Given the description of an element on the screen output the (x, y) to click on. 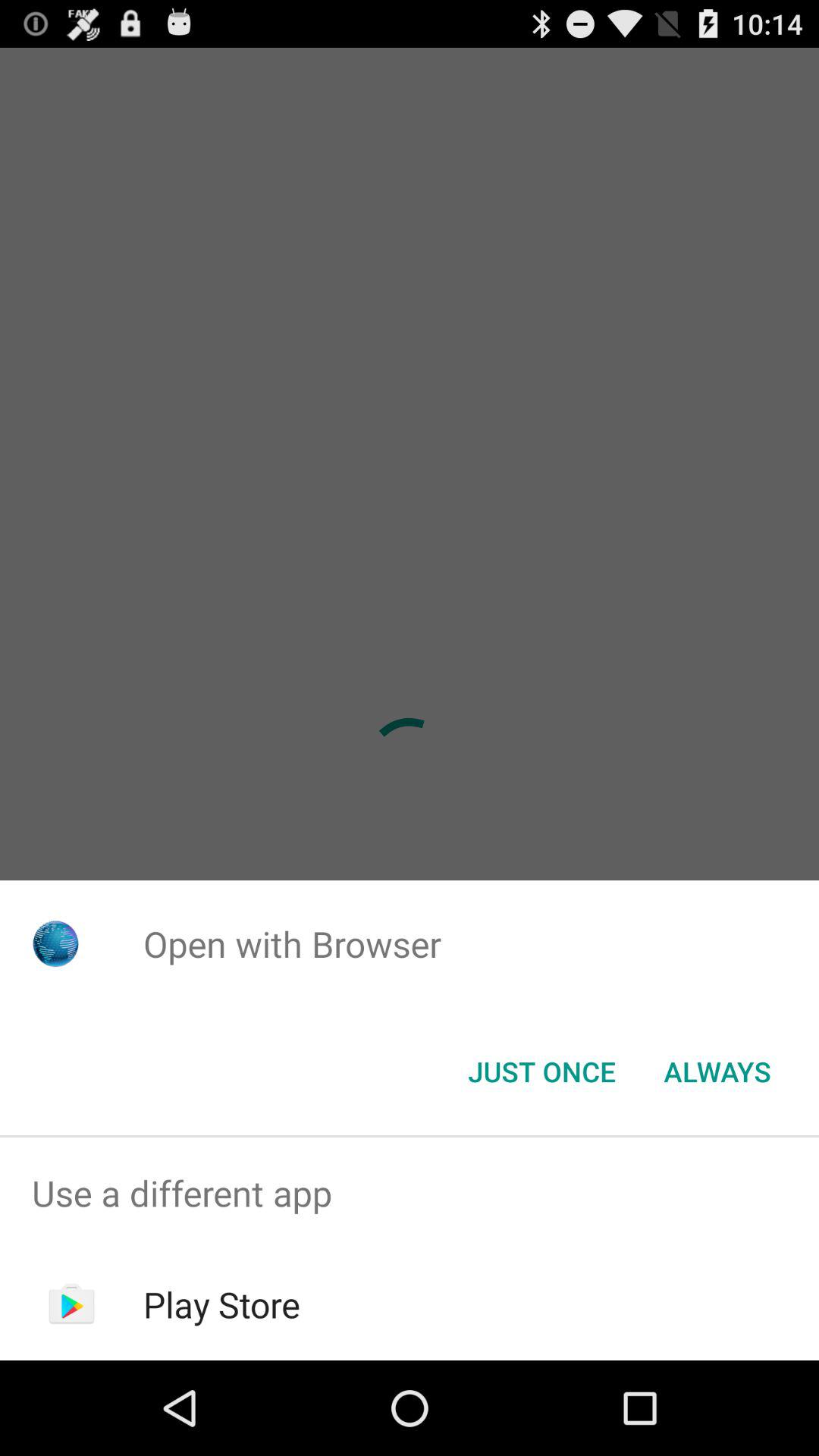
click just once item (541, 1071)
